Given the description of an element on the screen output the (x, y) to click on. 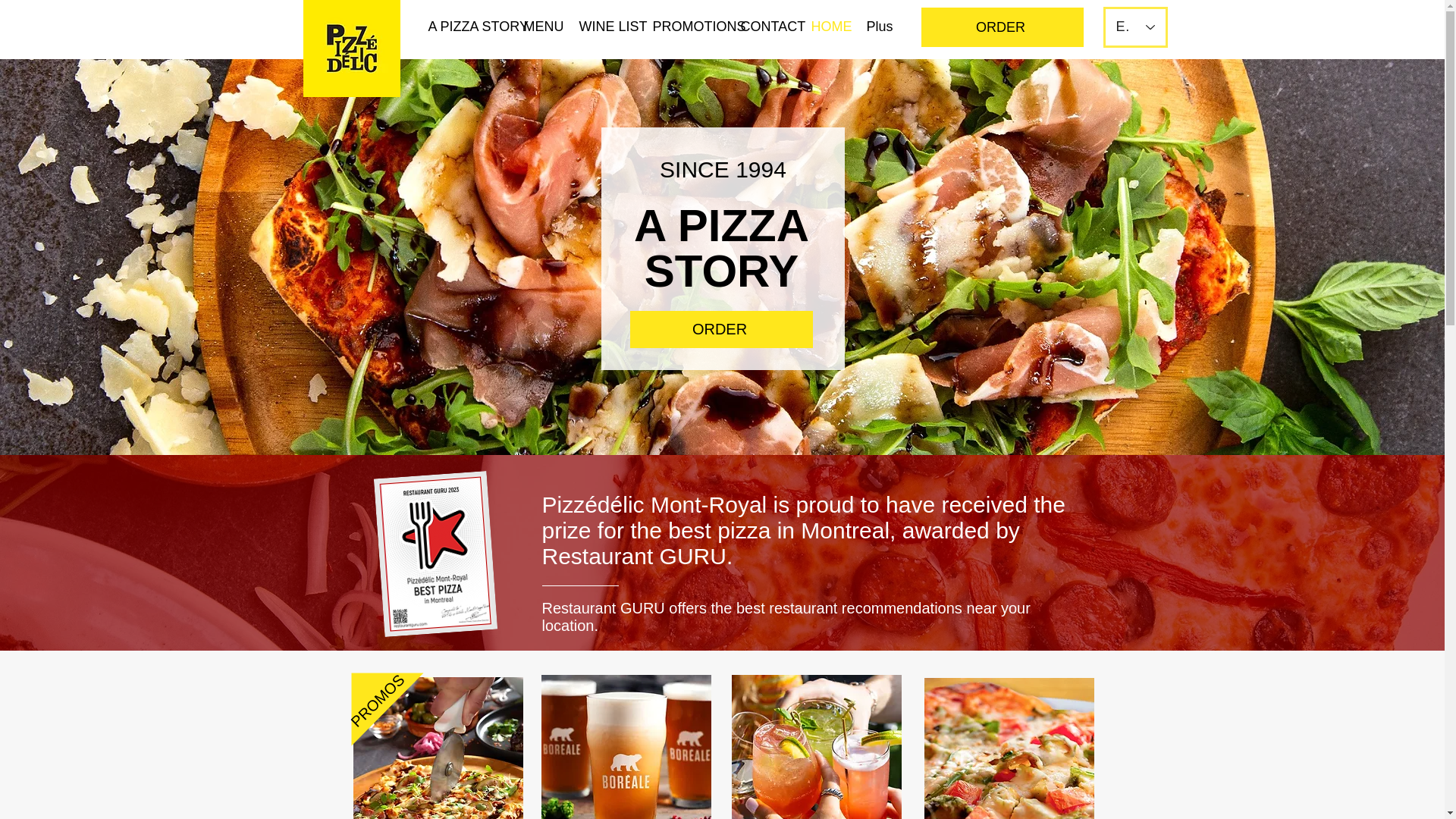
MENU (539, 26)
HOME (826, 26)
WINE LIST (603, 26)
CONTACT (764, 26)
ORDER (1001, 26)
A PIZZA STORY (464, 26)
ORDER (720, 329)
PROMOTIONS (685, 26)
